Given the description of an element on the screen output the (x, y) to click on. 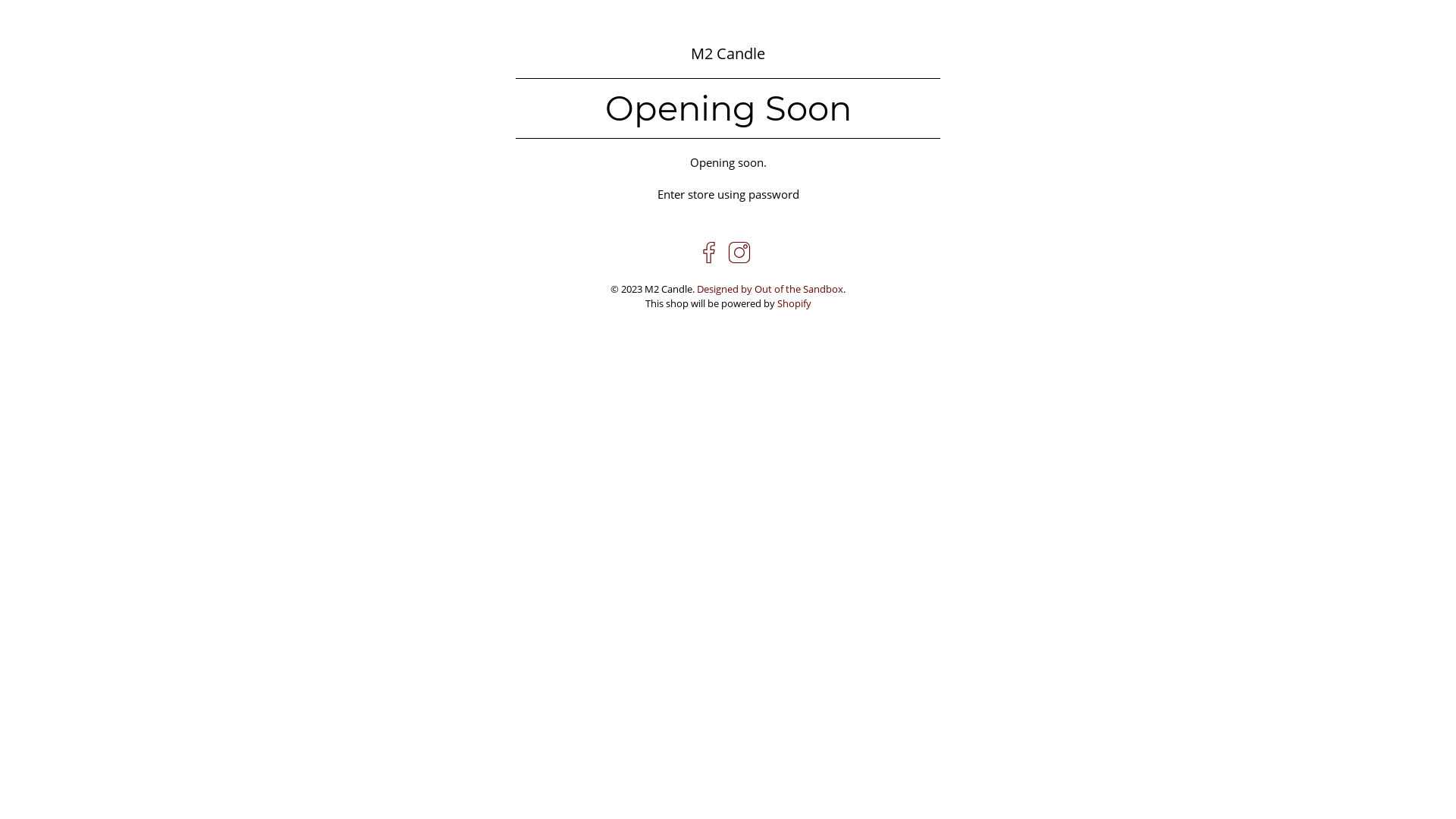
Designed by Out of the Sandbox Element type: text (769, 288)
Enter store using password Element type: text (727, 193)
M2 Candle on Instagram Element type: hover (739, 258)
M2 Candle on Facebook Element type: hover (708, 258)
Shopify Element type: text (793, 303)
Enter Element type: text (727, 435)
